Given the description of an element on the screen output the (x, y) to click on. 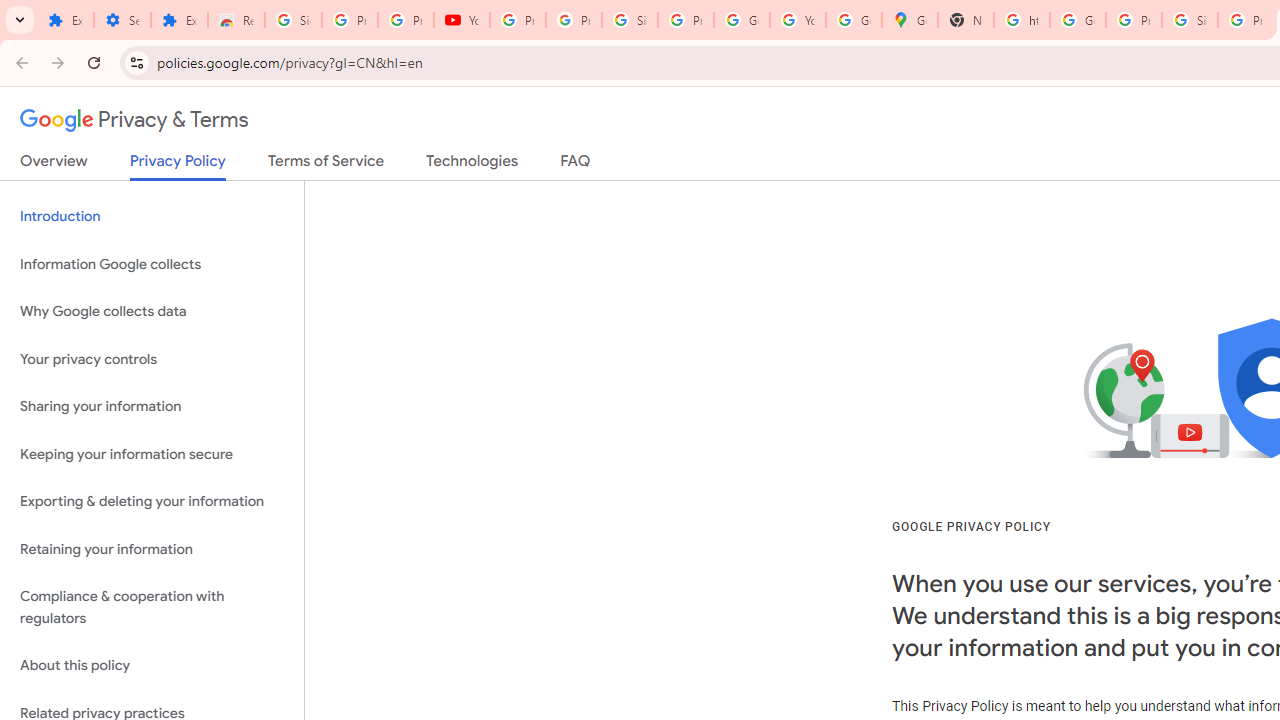
Sign in - Google Accounts (629, 20)
Extensions (65, 20)
